Given the description of an element on the screen output the (x, y) to click on. 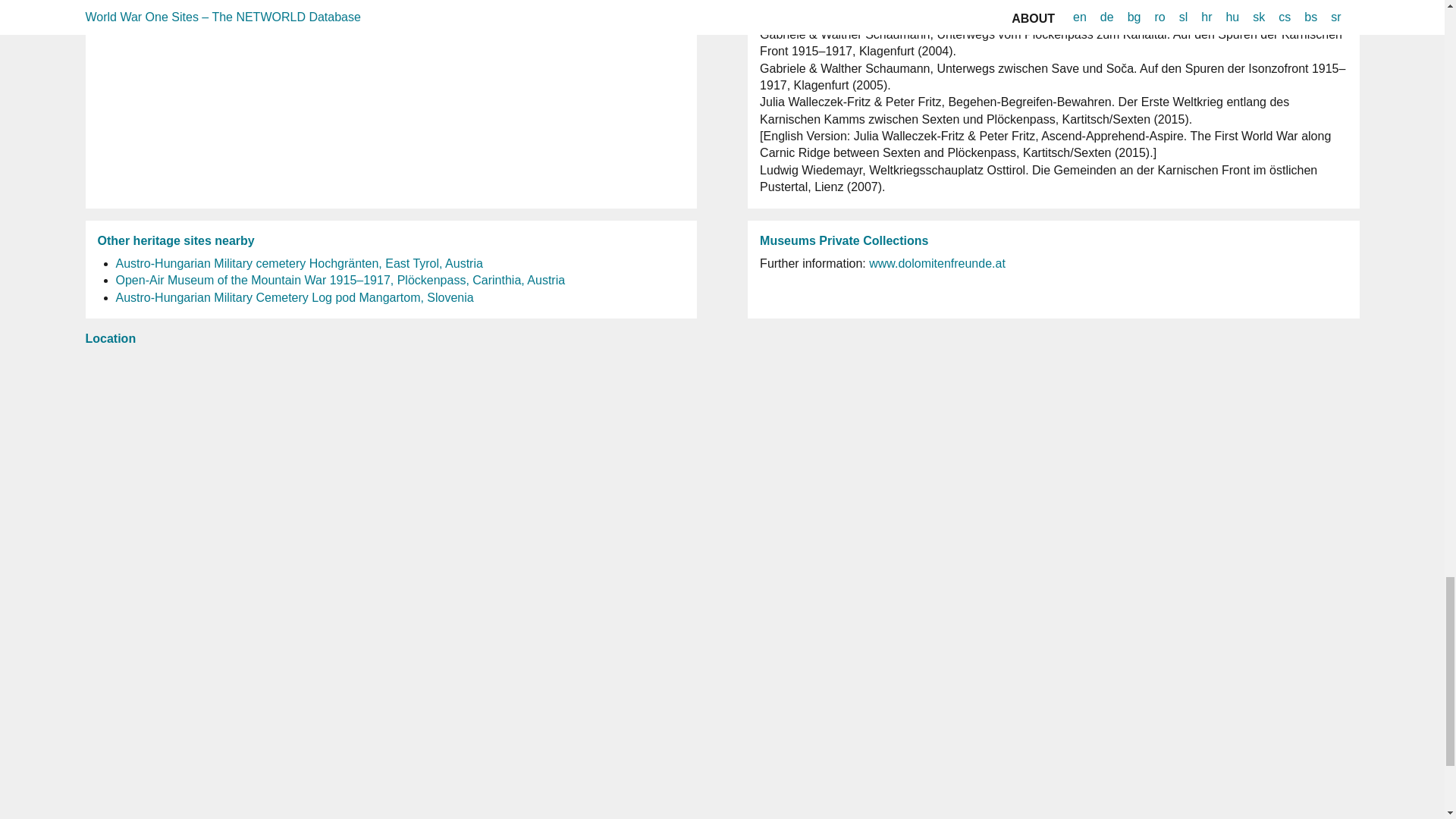
www.oebb.at (164, 3)
www.dolomitenfreunde.at (937, 263)
